Given the description of an element on the screen output the (x, y) to click on. 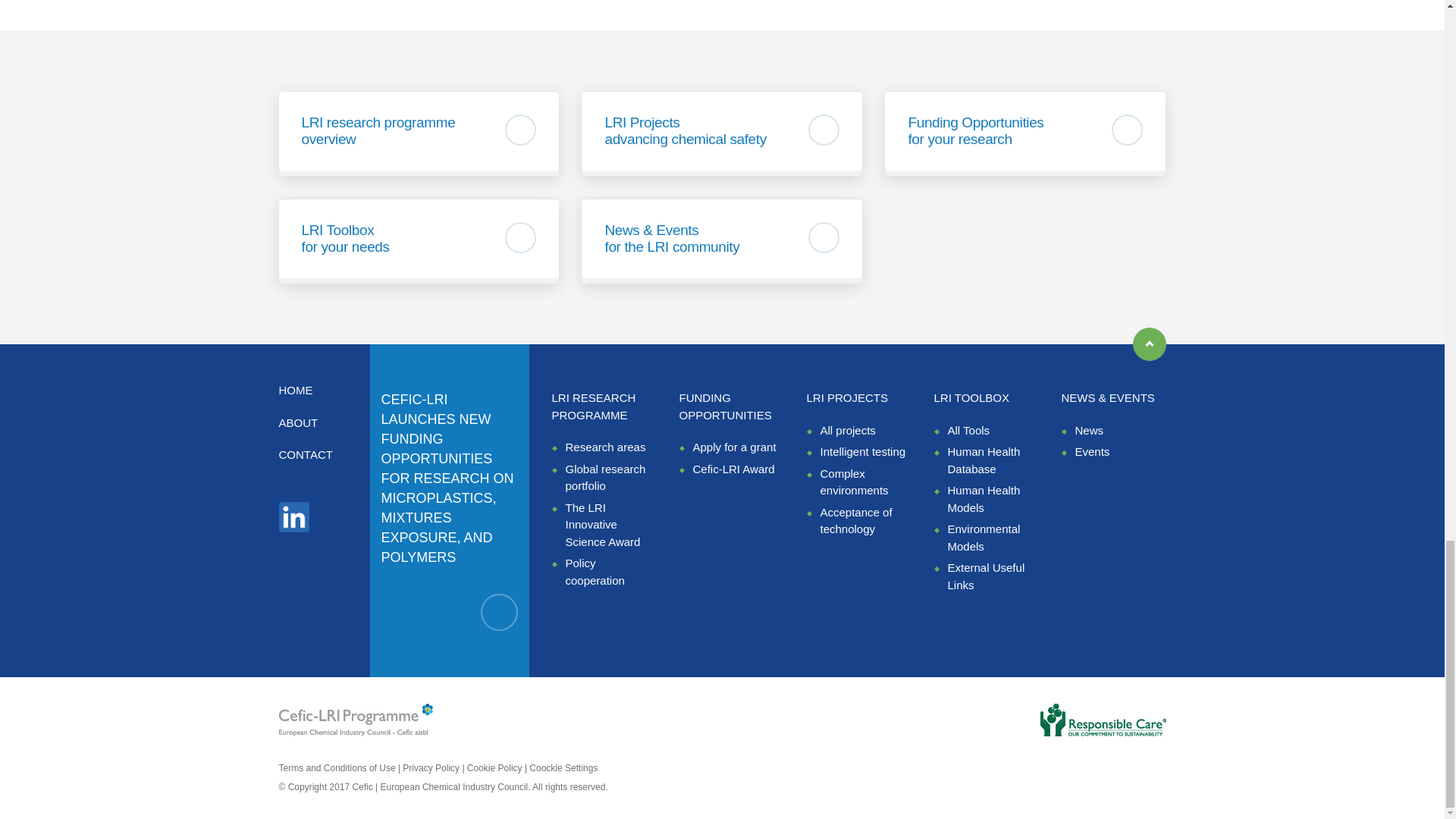
News (1089, 430)
